Given the description of an element on the screen output the (x, y) to click on. 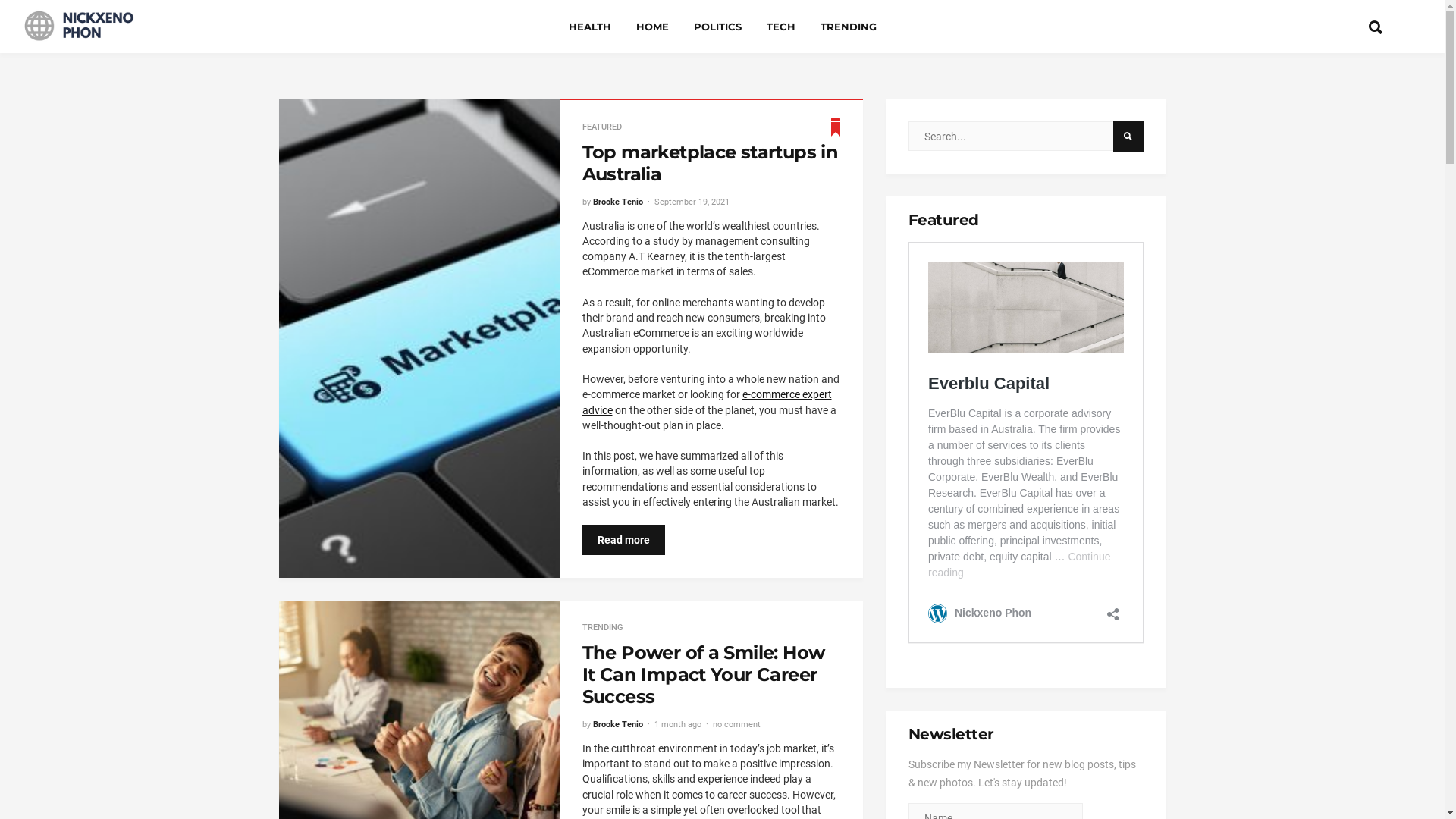
Brooke Tenio Element type: text (618, 202)
POLITICS Element type: text (716, 26)
1 month ago Element type: text (676, 724)
e-commerce expert advice Element type: text (706, 401)
The Power of a Smile: How It Can Impact Your Career Success Element type: text (703, 674)
TRENDING Element type: text (602, 627)
Read more Element type: text (623, 539)
Brooke Tenio Element type: text (618, 724)
Top marketplace startups in Australia Element type: text (710, 163)
HOME Element type: text (651, 26)
no comment Element type: text (736, 724)
HEALTH Element type: text (589, 26)
FEATURED Element type: text (601, 126)
TECH Element type: text (779, 26)
TRENDING Element type: text (848, 26)
Read more Element type: text (623, 570)
September 19, 2021 Element type: text (690, 202)
